Given the description of an element on the screen output the (x, y) to click on. 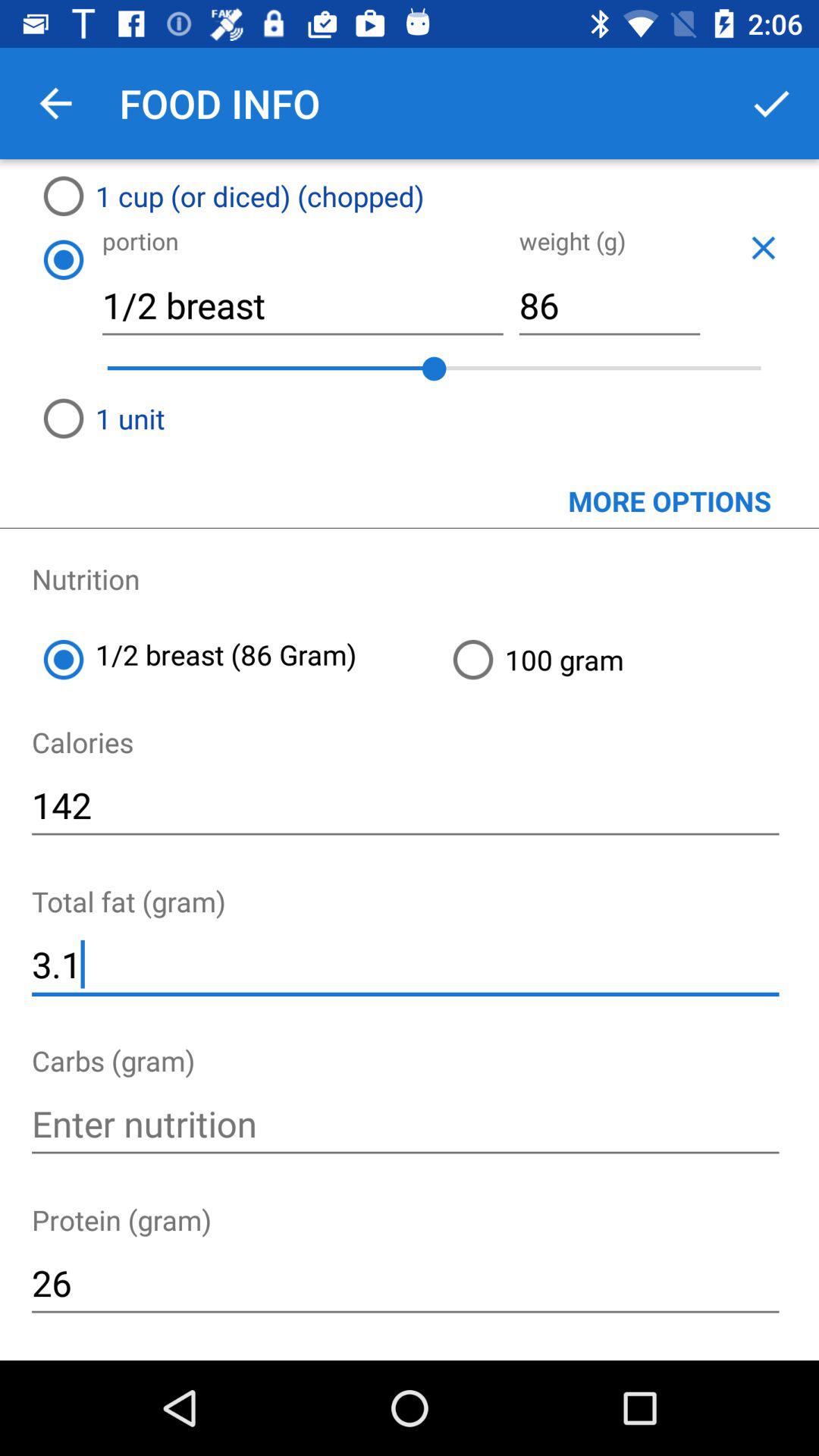
flip until the more options icon (409, 488)
